Given the description of an element on the screen output the (x, y) to click on. 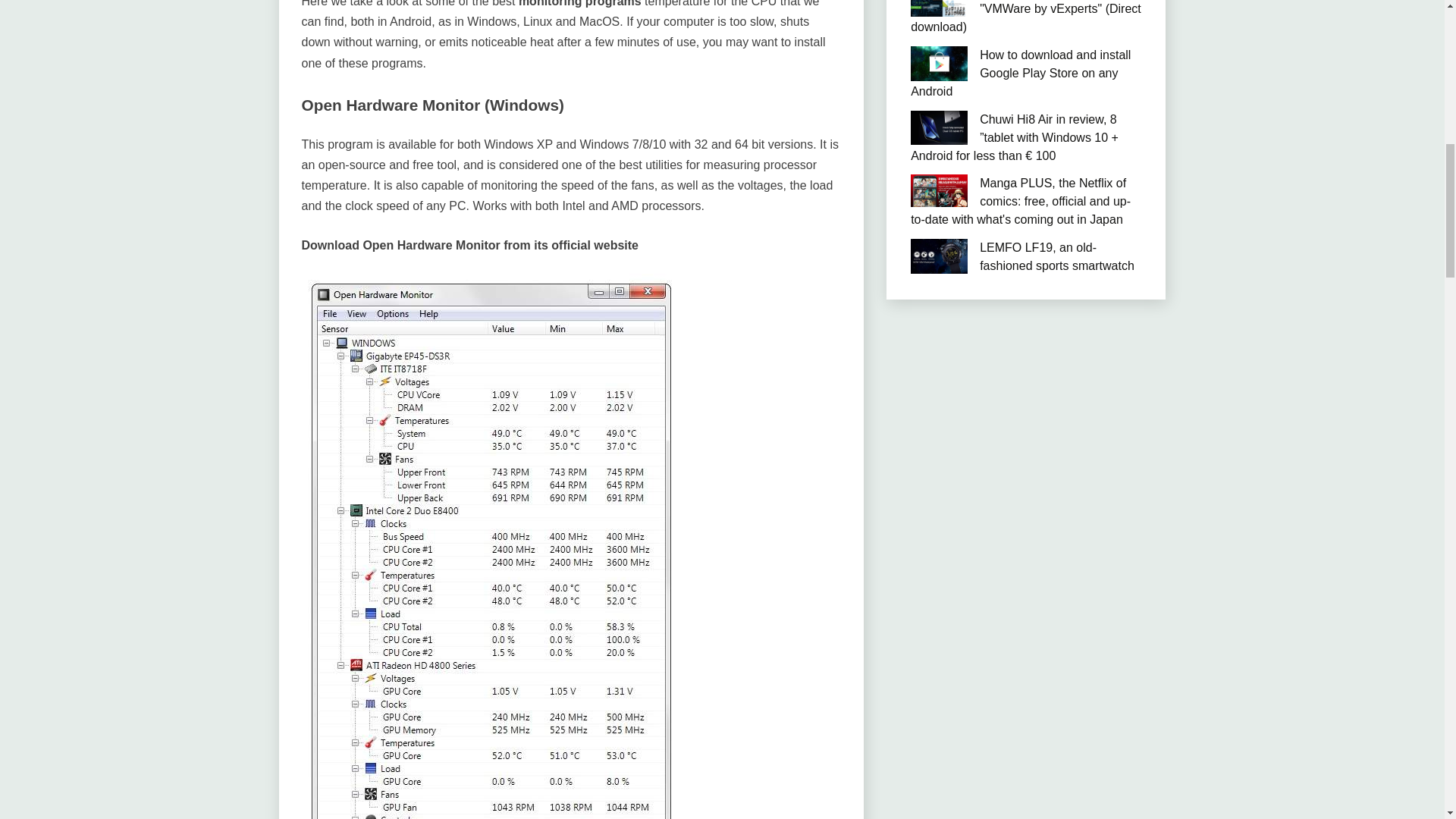
How to download and install Google Play Store on any Android (1021, 72)
